Given the description of an element on the screen output the (x, y) to click on. 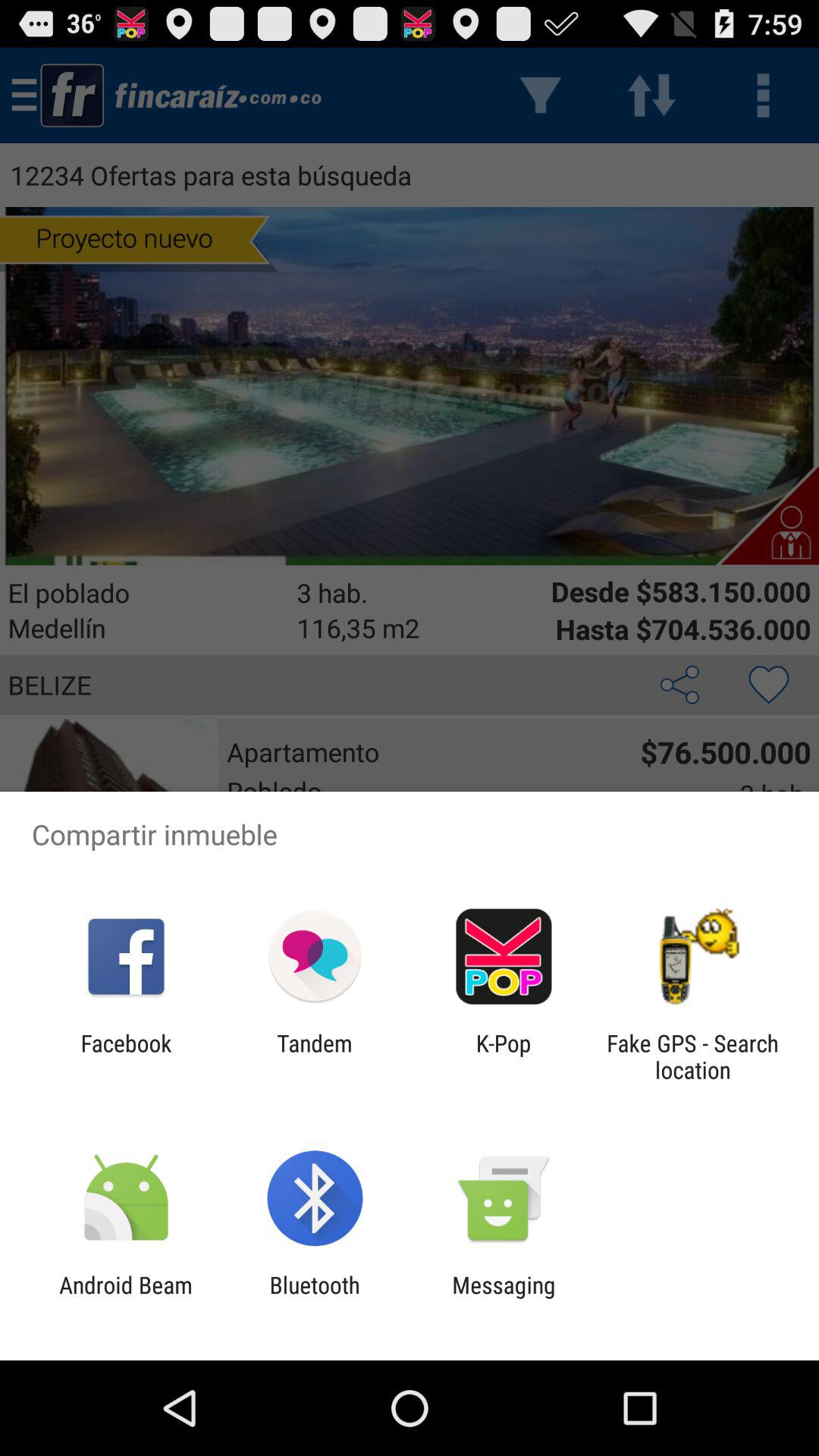
jump until the k-pop (503, 1056)
